Given the description of an element on the screen output the (x, y) to click on. 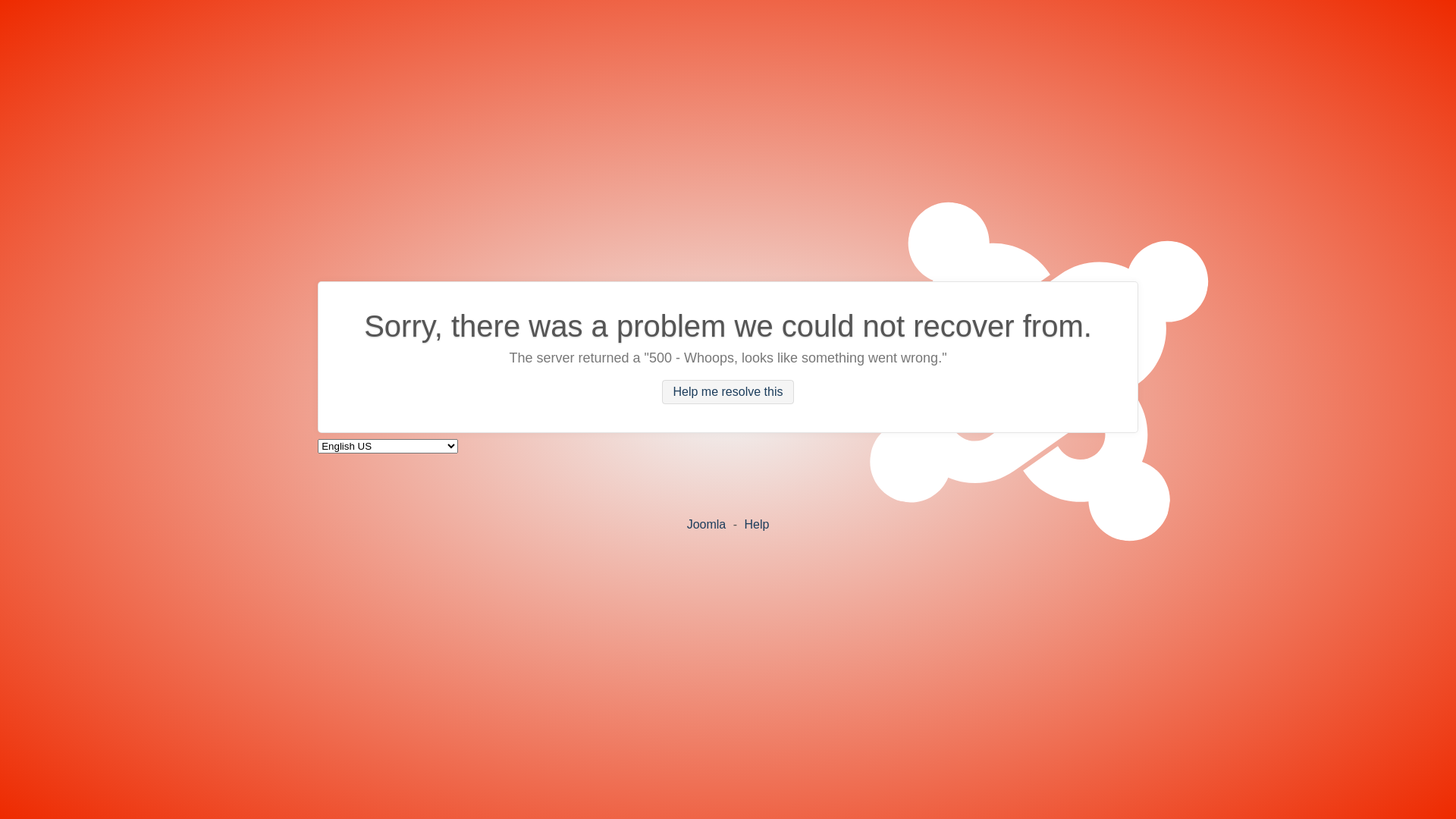
Joomla Element type: text (706, 523)
Help me resolve this Element type: text (727, 391)
Help Element type: text (755, 523)
